Given the description of an element on the screen output the (x, y) to click on. 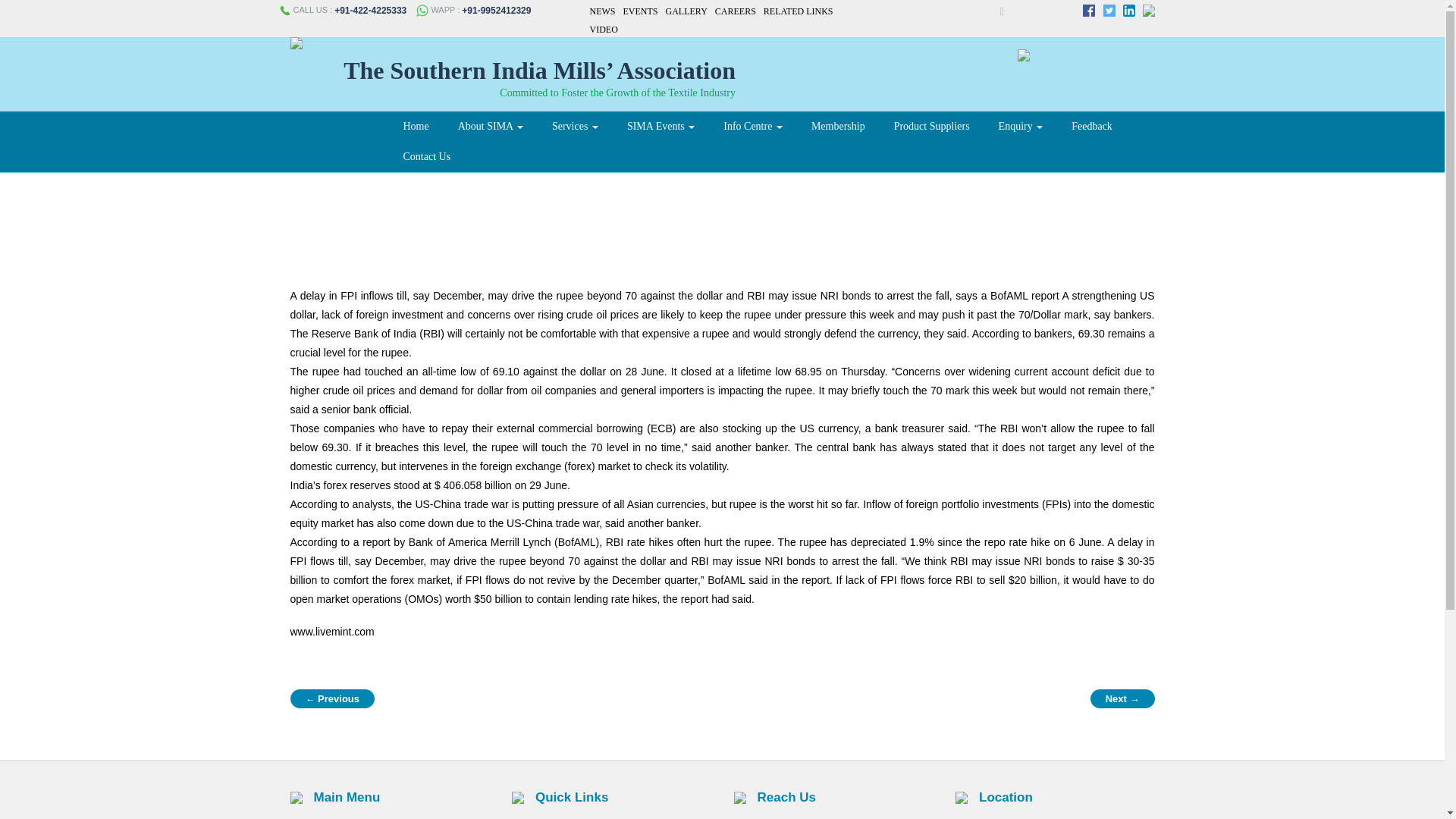
Search here... (993, 11)
Services (574, 126)
Info Centre (752, 126)
Home (415, 126)
VIDEO (603, 29)
Submit (986, 11)
Services (574, 126)
SIMA Events (660, 126)
CAREERS (734, 10)
RELATED LINKS (797, 10)
